Given the description of an element on the screen output the (x, y) to click on. 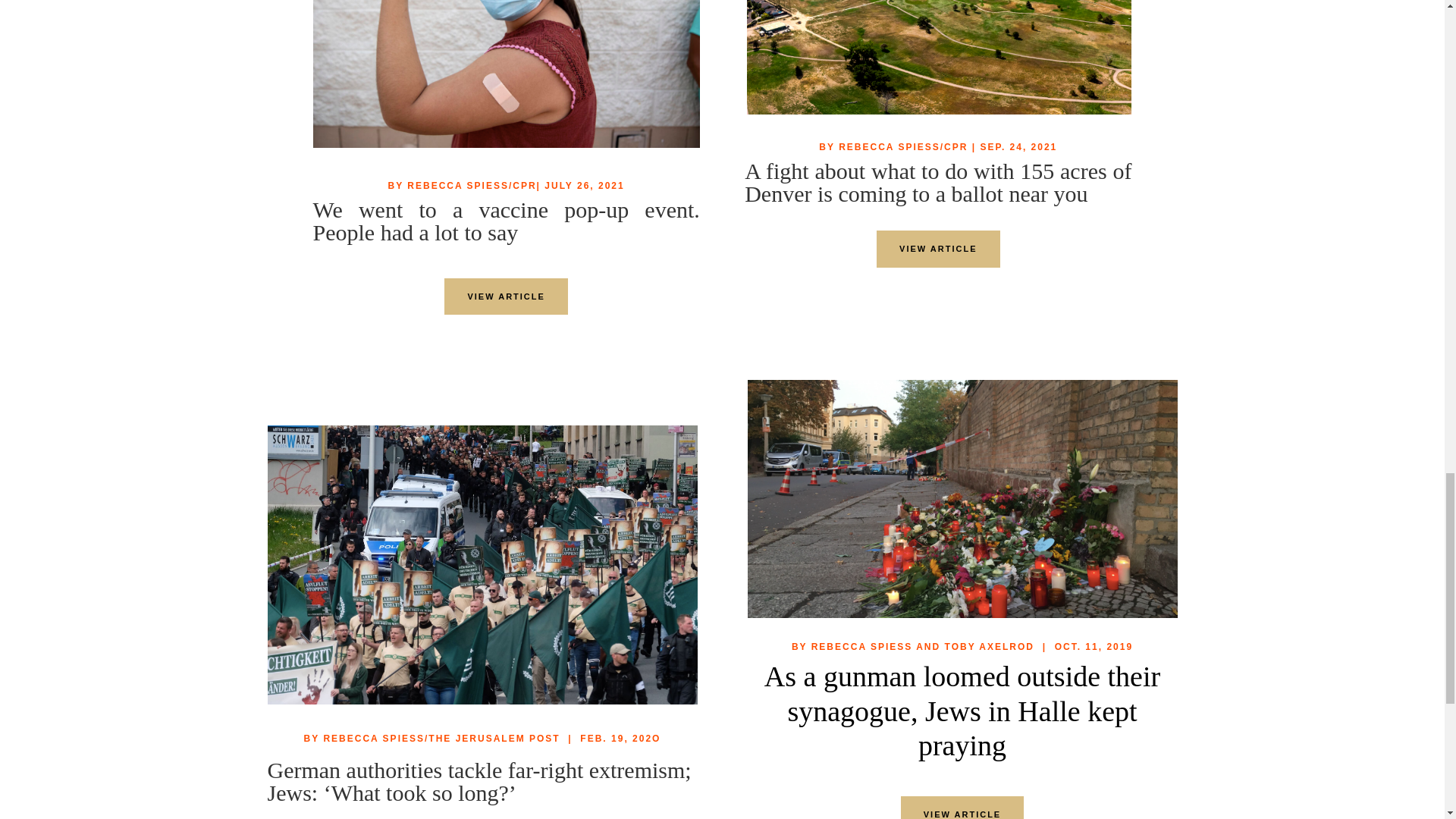
TOBY AXELROD (988, 646)
VIEW ARTICLE (505, 296)
Halle Shooting (962, 498)
REBECCA SPIESS (861, 646)
golf course (938, 57)
VIEW ARTICLE (937, 248)
Screen Shot 2021-08-01 at 2.47.44 PM (505, 74)
VIEW ARTICLE (962, 807)
